Given the description of an element on the screen output the (x, y) to click on. 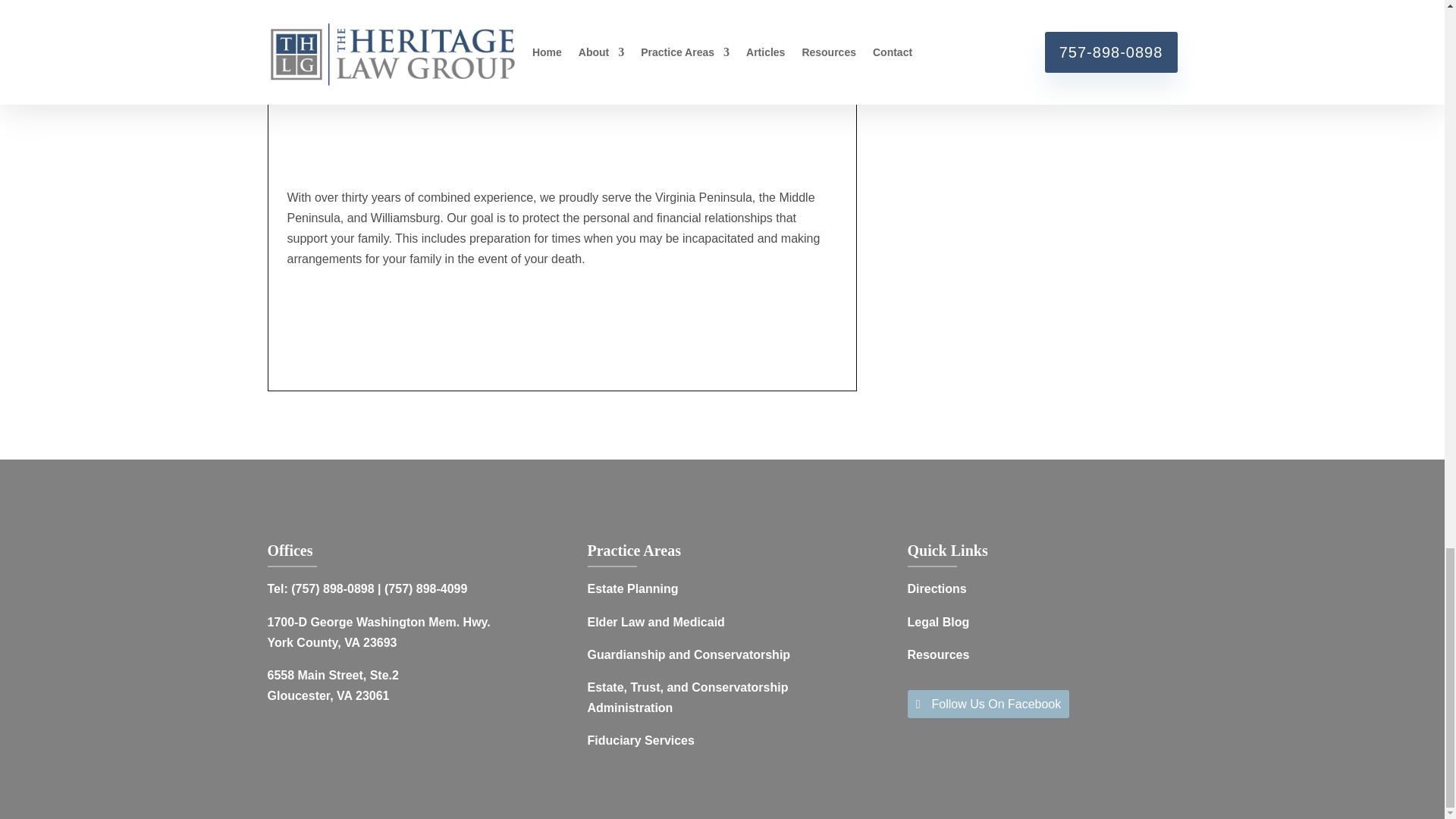
Personal Representatives (371, 9)
logo-white (380, 493)
Call The Heritage Law Group (555, 19)
